Given the description of an element on the screen output the (x, y) to click on. 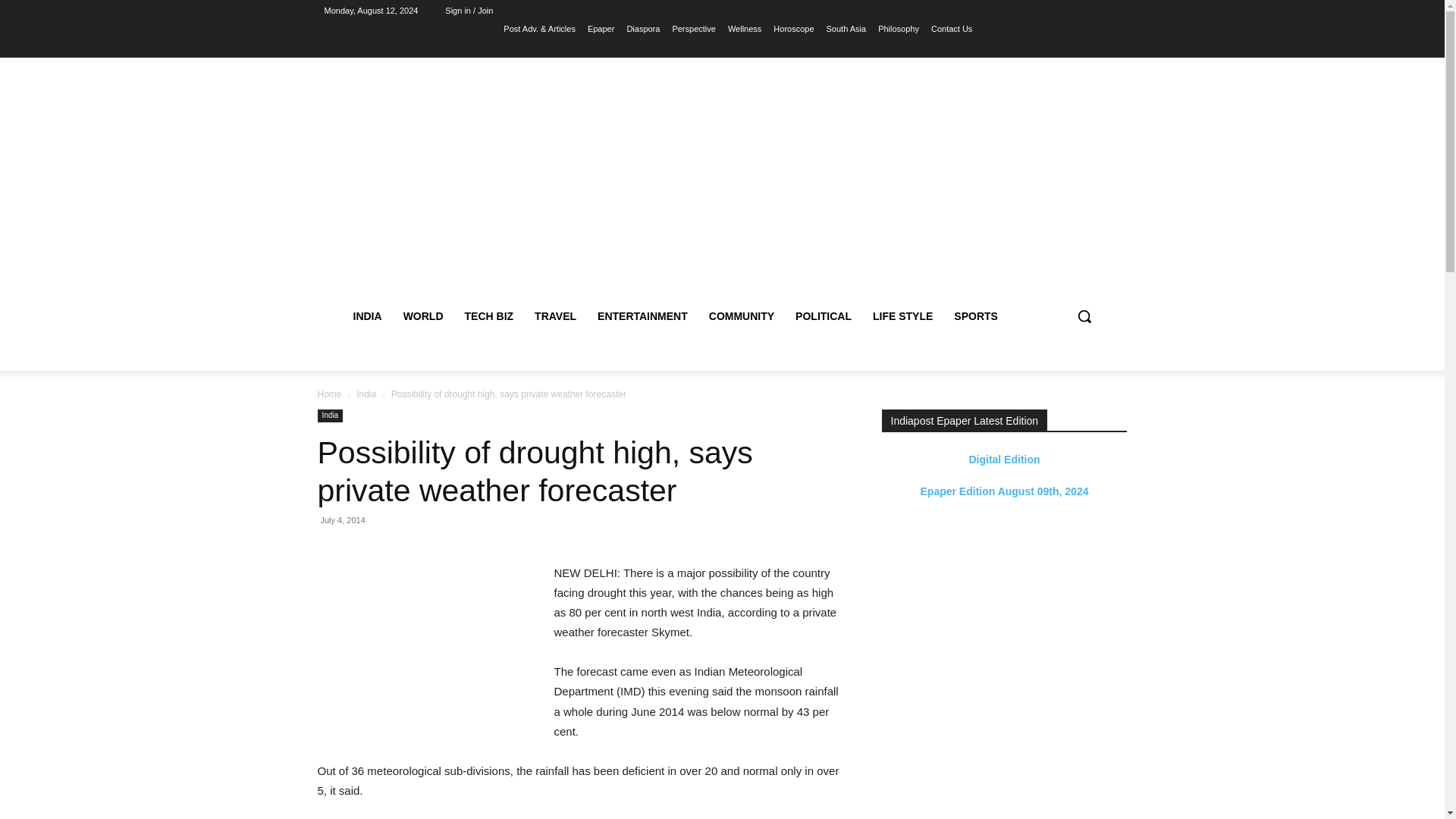
South Asia (846, 28)
SPORTS (976, 316)
TECH BIZ (489, 316)
Home (328, 394)
LIFE STYLE (902, 316)
Diaspora (642, 28)
Epaper (601, 28)
POLITICAL (822, 316)
ENTERTAINMENT (642, 316)
INDIA (367, 316)
